Given the description of an element on the screen output the (x, y) to click on. 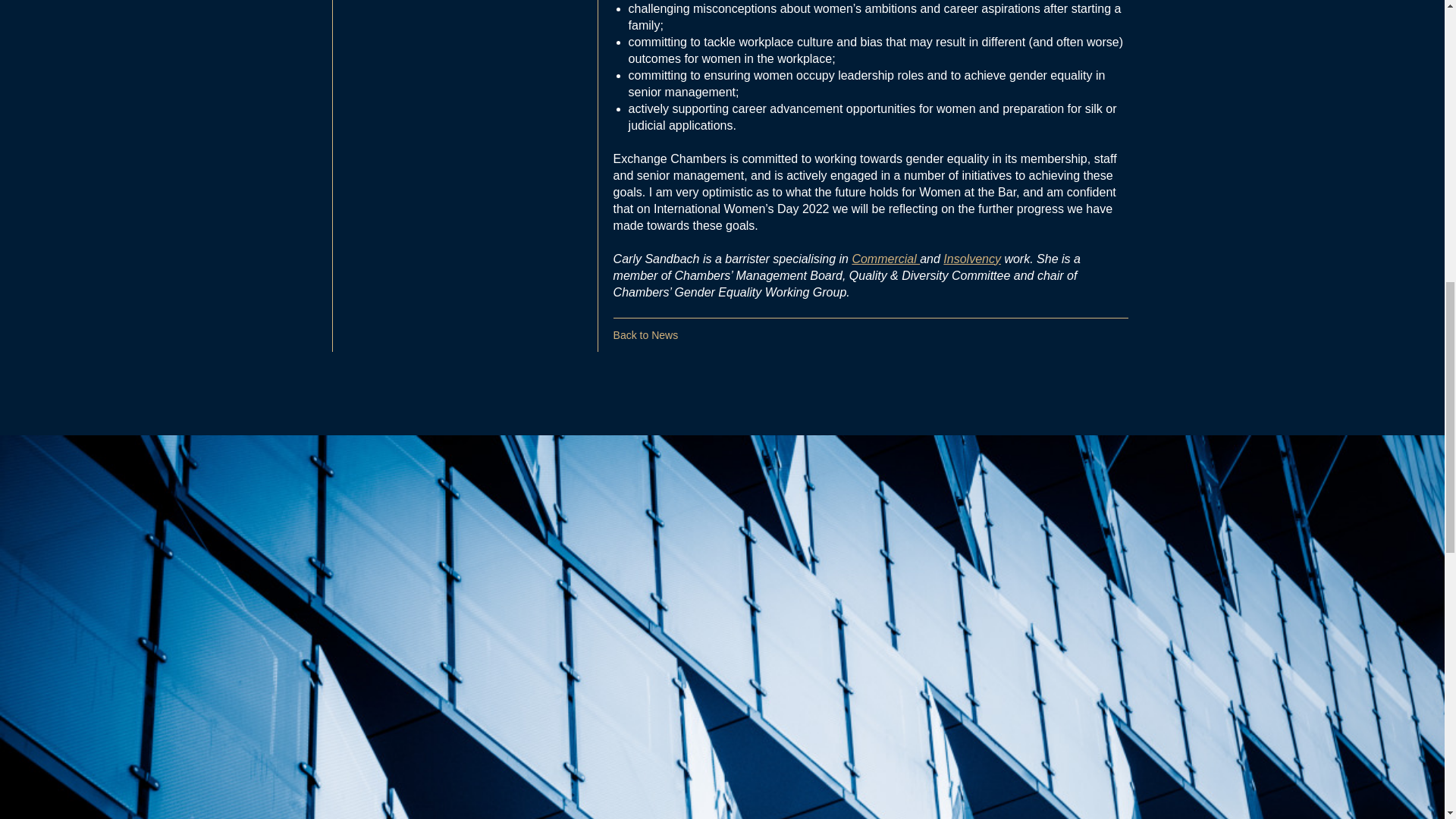
Insolvency (972, 258)
Commercial (885, 258)
Back to News (645, 335)
